Given the description of an element on the screen output the (x, y) to click on. 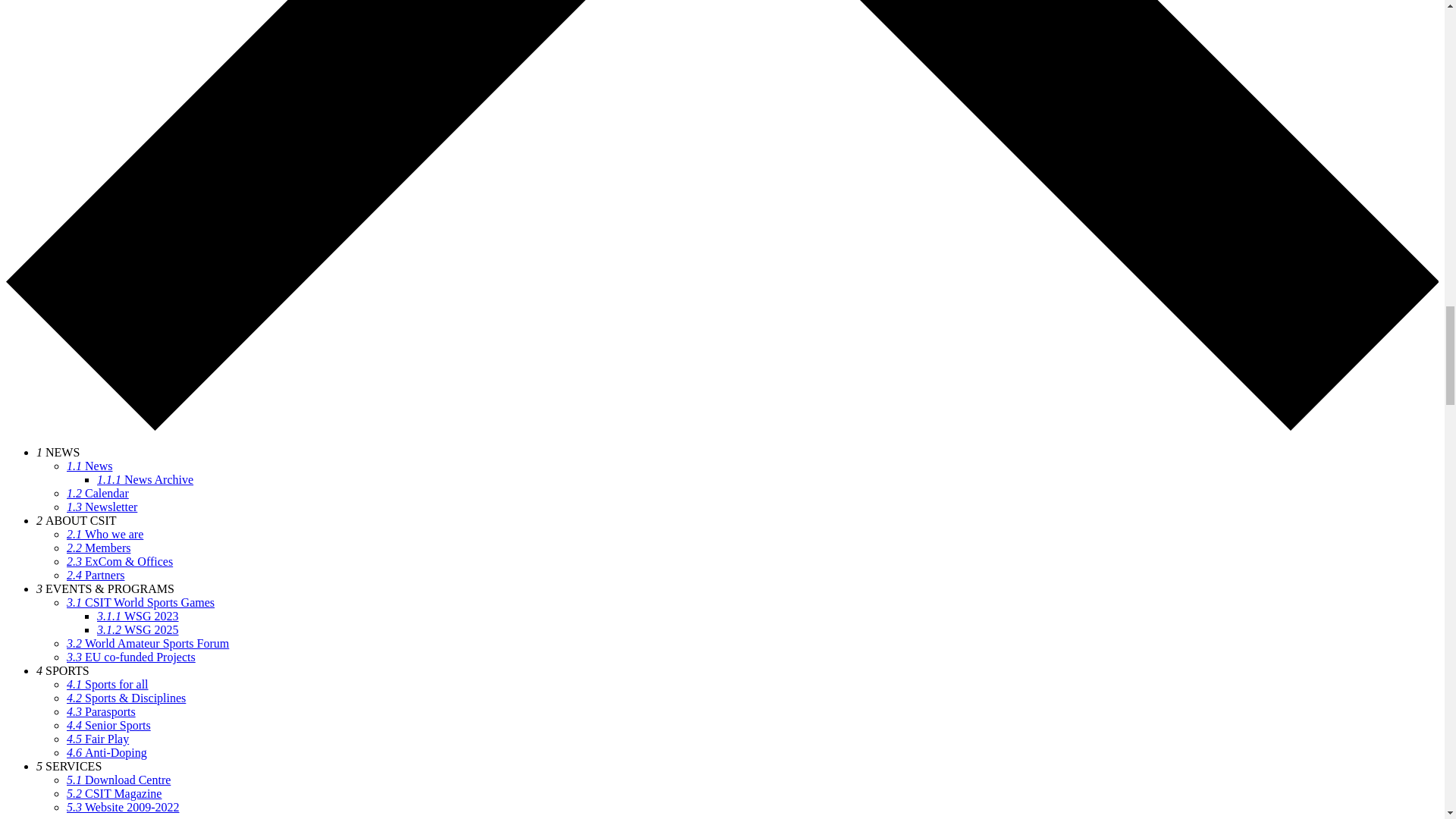
3.3 EU co-funded Projects (130, 656)
Newsletter (101, 506)
1.3 Newsletter (101, 506)
Sports for all (107, 684)
2.4 Partners (94, 574)
4.5 Fair Play (97, 738)
Who we are (104, 533)
NEWS (58, 451)
1.1.1 News Archive (145, 479)
News Archive (145, 479)
